Given the description of an element on the screen output the (x, y) to click on. 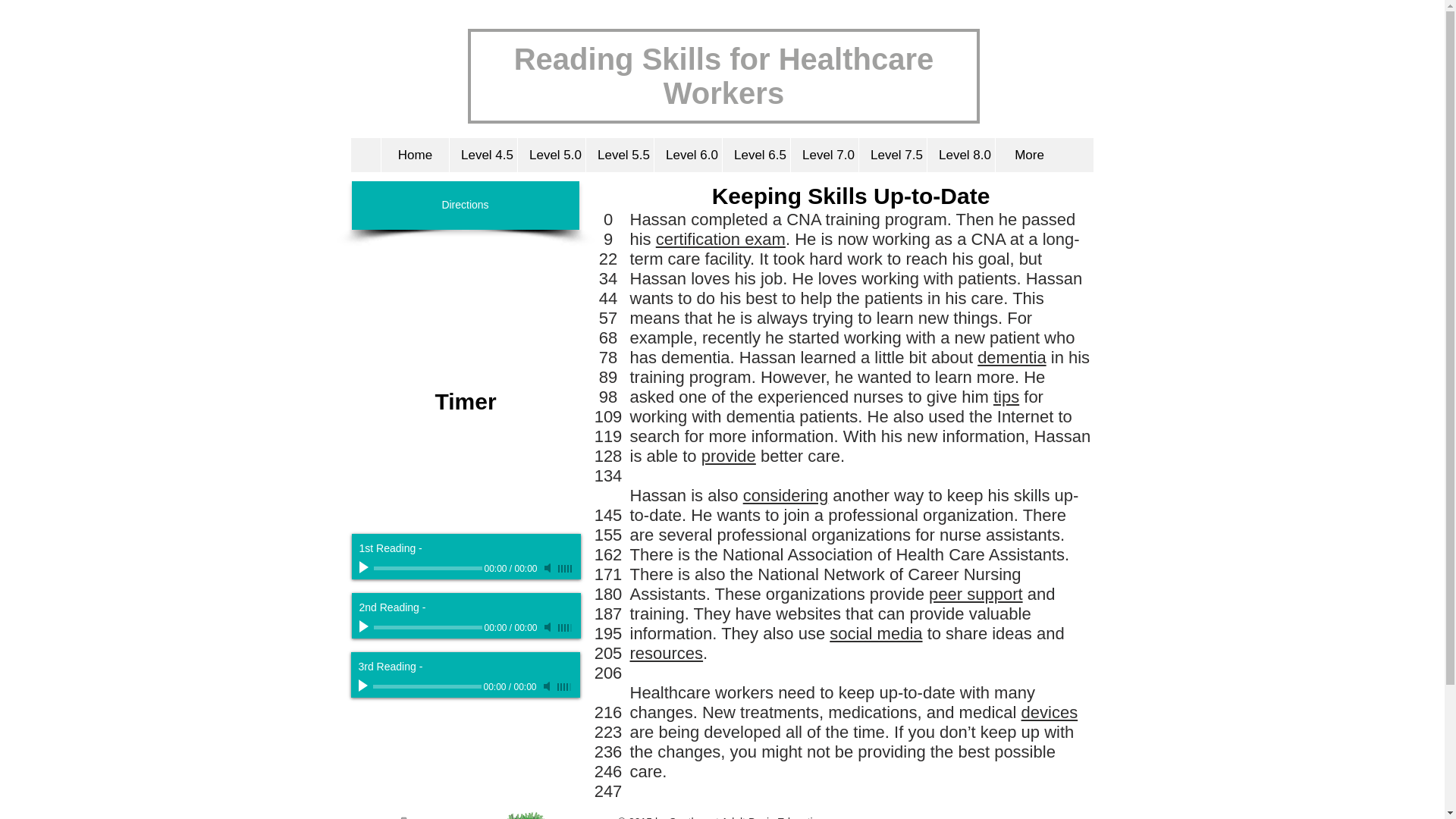
Reading Skills for Healthcare Workers (723, 75)
0 (426, 627)
Home (414, 154)
0 (426, 568)
Level 7.0 (824, 154)
Level 6.0 (687, 154)
Level 5.5 (619, 154)
Level 8.0 (960, 154)
Level 7.5 (892, 154)
Directions (465, 205)
0 (426, 686)
Level 6.5 (756, 154)
Level 5.0 (550, 154)
Level 4.5 (482, 154)
